Given the description of an element on the screen output the (x, y) to click on. 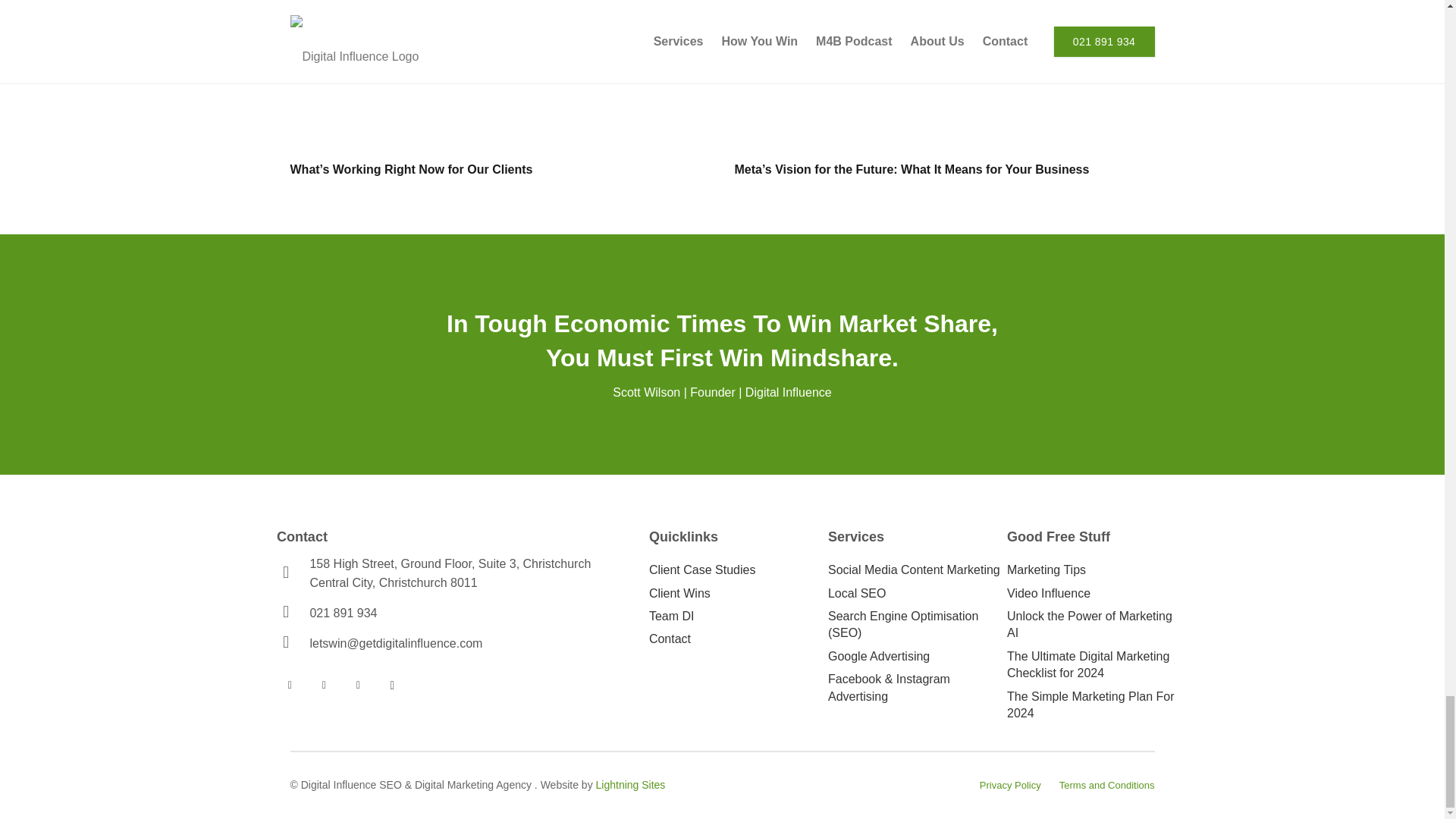
YouTube (324, 684)
LinkedIn (358, 684)
Facebook (289, 684)
Instagram (392, 684)
